Given the description of an element on the screen output the (x, y) to click on. 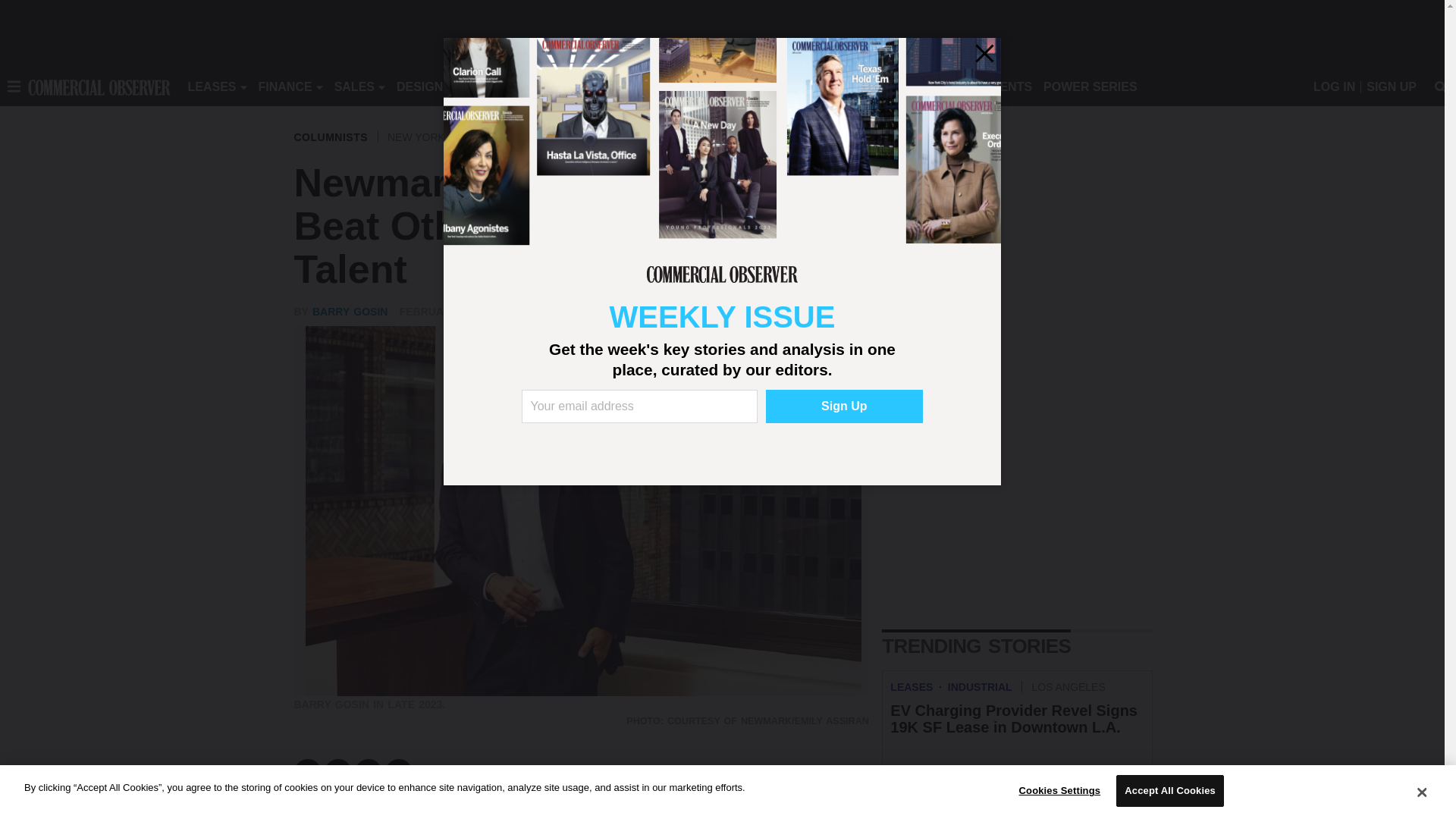
LEASES (211, 86)
Commercial Observer Home (98, 86)
Share on LinkedIn (368, 772)
Share on Facebook (307, 772)
SALES (354, 86)
Tweet (338, 772)
FINANCE (286, 86)
Send email (398, 772)
TECHNOLOGY (619, 86)
MORE (691, 86)
Posts by Barry Gosin (350, 311)
